Given the description of an element on the screen output the (x, y) to click on. 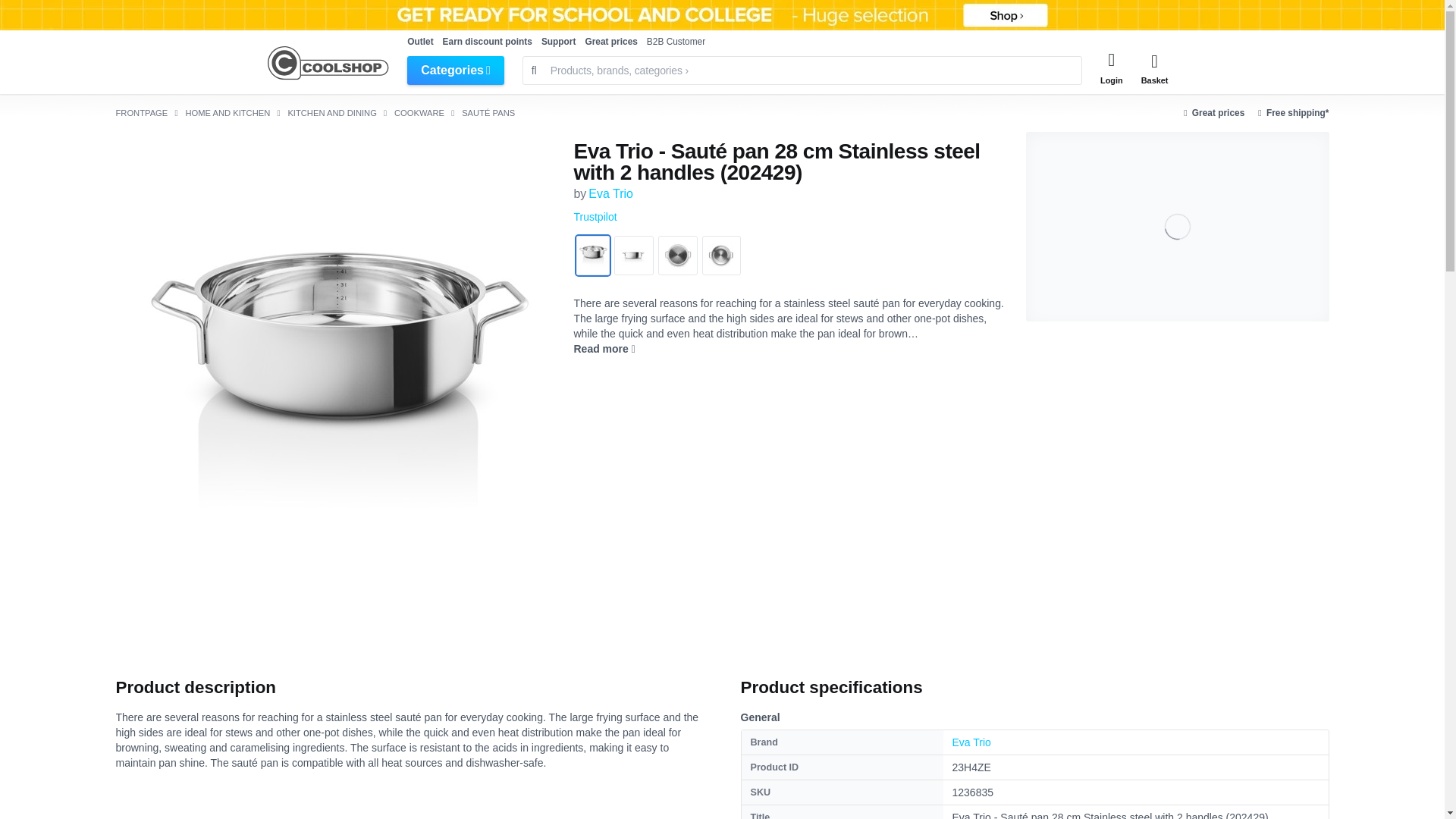
Support (558, 41)
Earn discount points (487, 41)
Categories (455, 70)
Great prices (611, 41)
B2B Customer (675, 41)
Outlet (419, 41)
Coolshop - Frontpage (327, 62)
